Given the description of an element on the screen output the (x, y) to click on. 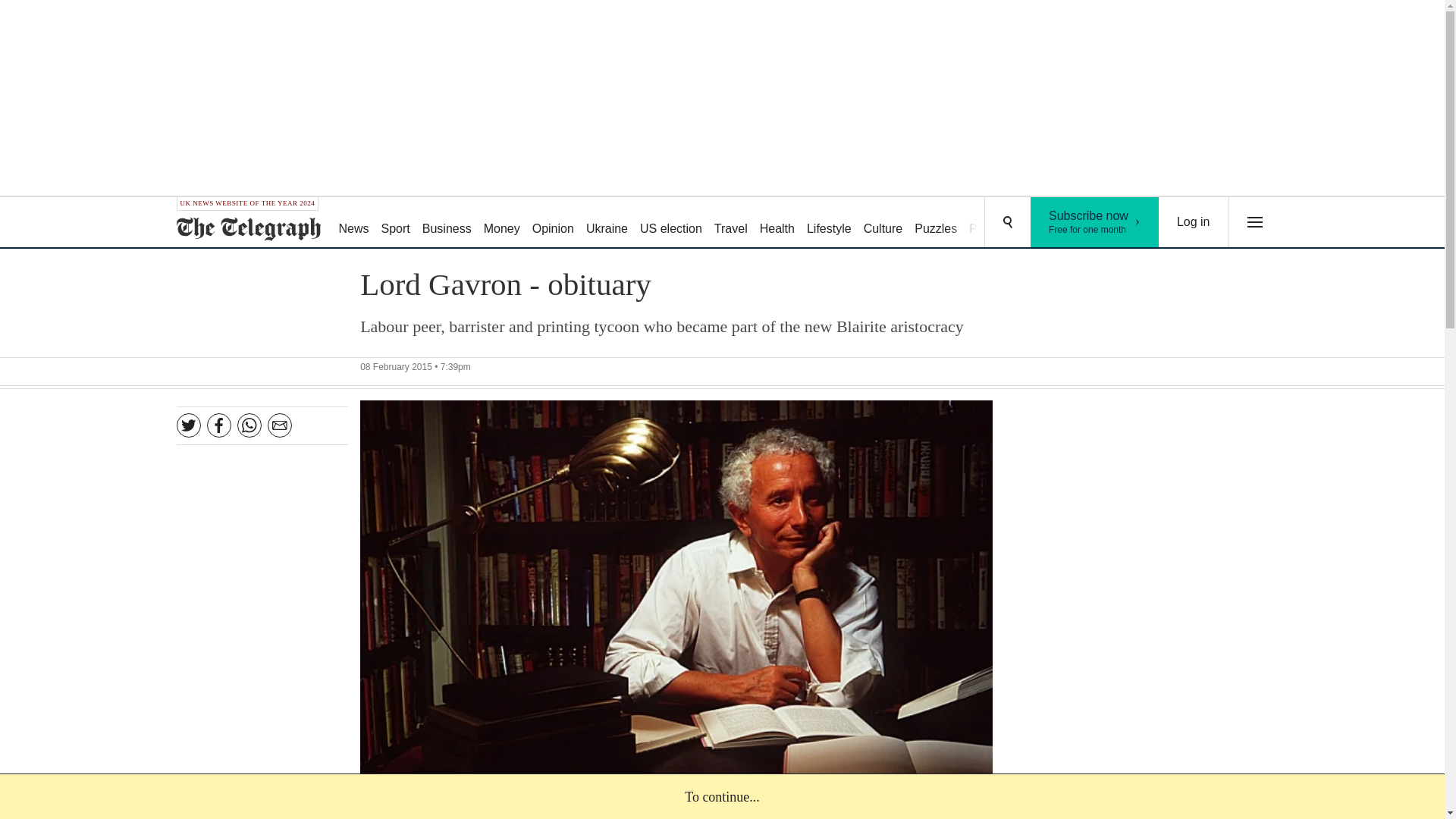
Log in (1193, 222)
Travel (730, 223)
Culture (882, 223)
Lifestyle (828, 223)
Podcasts (993, 223)
Business (446, 223)
Ukraine (606, 223)
Health (777, 223)
Money (501, 223)
US election (670, 223)
